Given the description of an element on the screen output the (x, y) to click on. 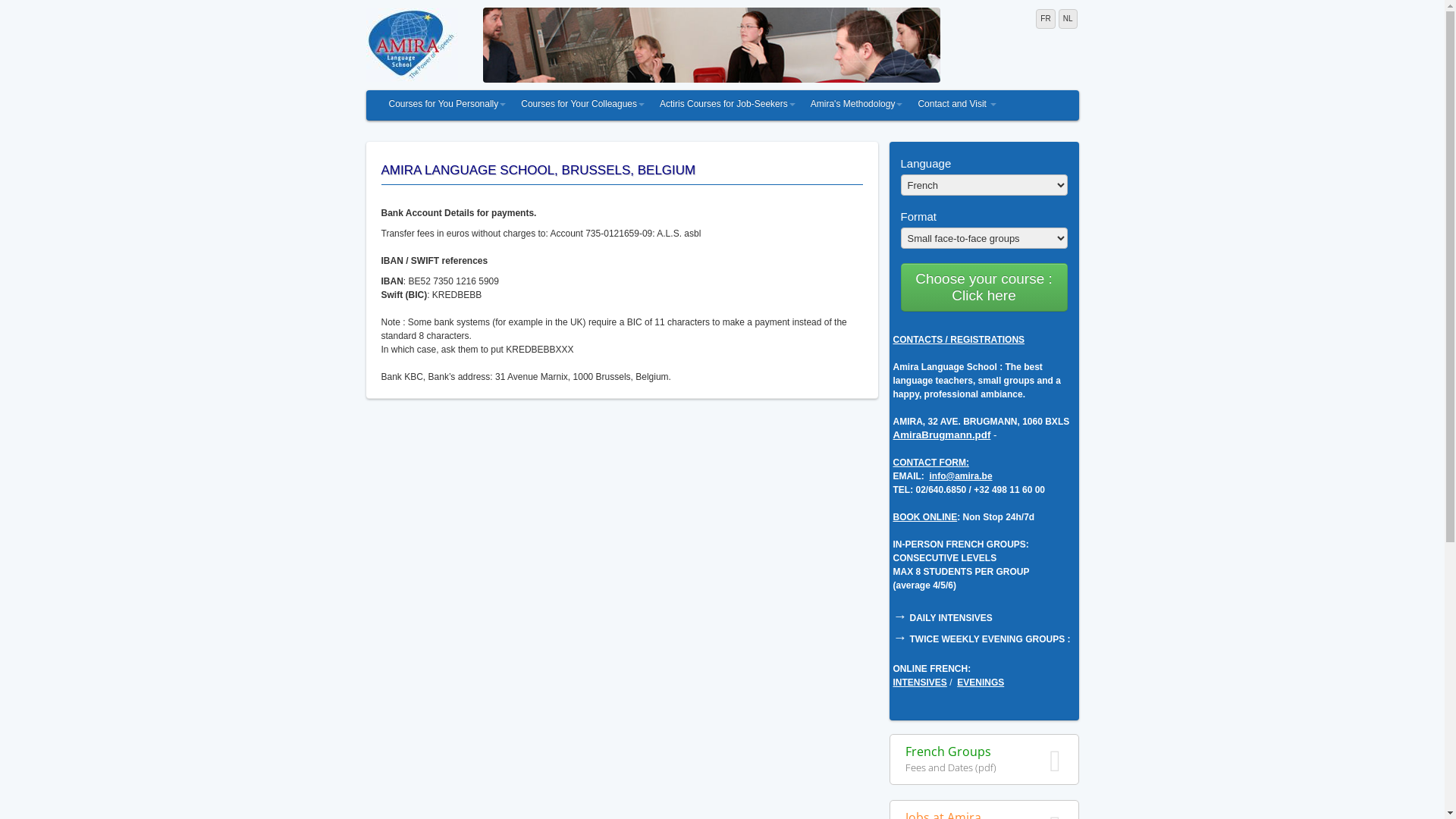
NL Element type: text (1068, 18)
EVENINGS Element type: text (980, 682)
Contact and Visit Element type: text (957, 104)
EMAIL:  info@amira.be Element type: text (942, 475)
Amira's Methodology Element type: text (856, 104)
INTENSIVES Element type: text (920, 682)
Actiris Courses for Job-Seekers Element type: text (727, 104)
CONTACT FORM: Element type: text (931, 462)
FR Element type: text (1045, 18)
DAILY INTENSIVES Element type: text (949, 617)
Courses for Your Colleagues Element type: text (582, 104)
French Groups
Fees and Dates (pdf) Element type: text (983, 759)
AmiraBrugmann.pdf - Element type: text (945, 434)
BOOK ONLINE: Non Stop 24h/7d Element type: text (964, 516)
Courses for You Personally Element type: text (446, 104)
Choose your course : Click here Element type: text (983, 287)
